Given the description of an element on the screen output the (x, y) to click on. 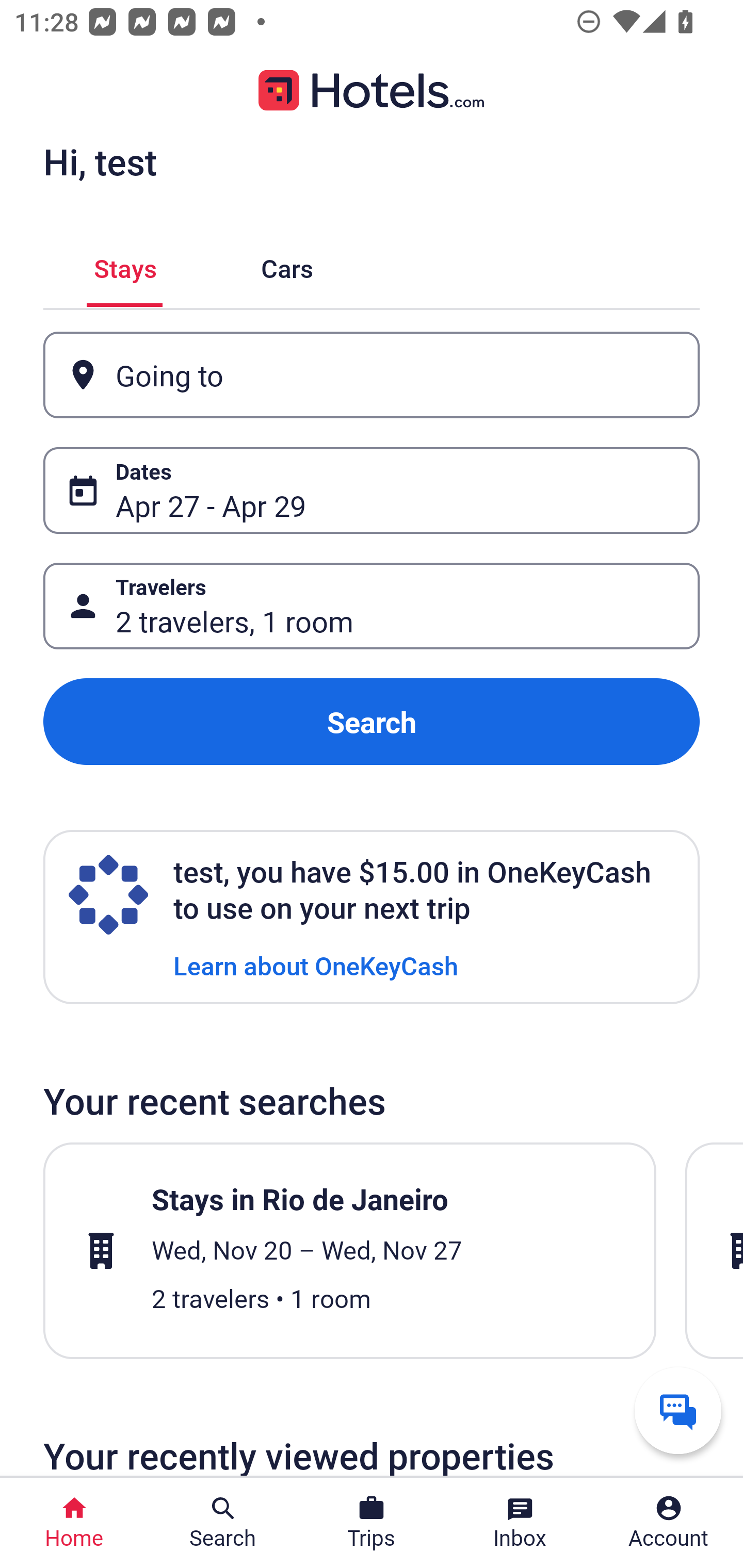
Hi, test (99, 161)
Cars (286, 265)
Going to Button (371, 375)
Dates Button Apr 27 - Apr 29 (371, 489)
Travelers Button 2 travelers, 1 room (371, 605)
Search (371, 721)
Learn about OneKeyCash Learn about OneKeyCash Link (315, 964)
Get help from a virtual agent (677, 1410)
Search Search Button (222, 1522)
Trips Trips Button (371, 1522)
Inbox Inbox Button (519, 1522)
Account Profile. Button (668, 1522)
